Given the description of an element on the screen output the (x, y) to click on. 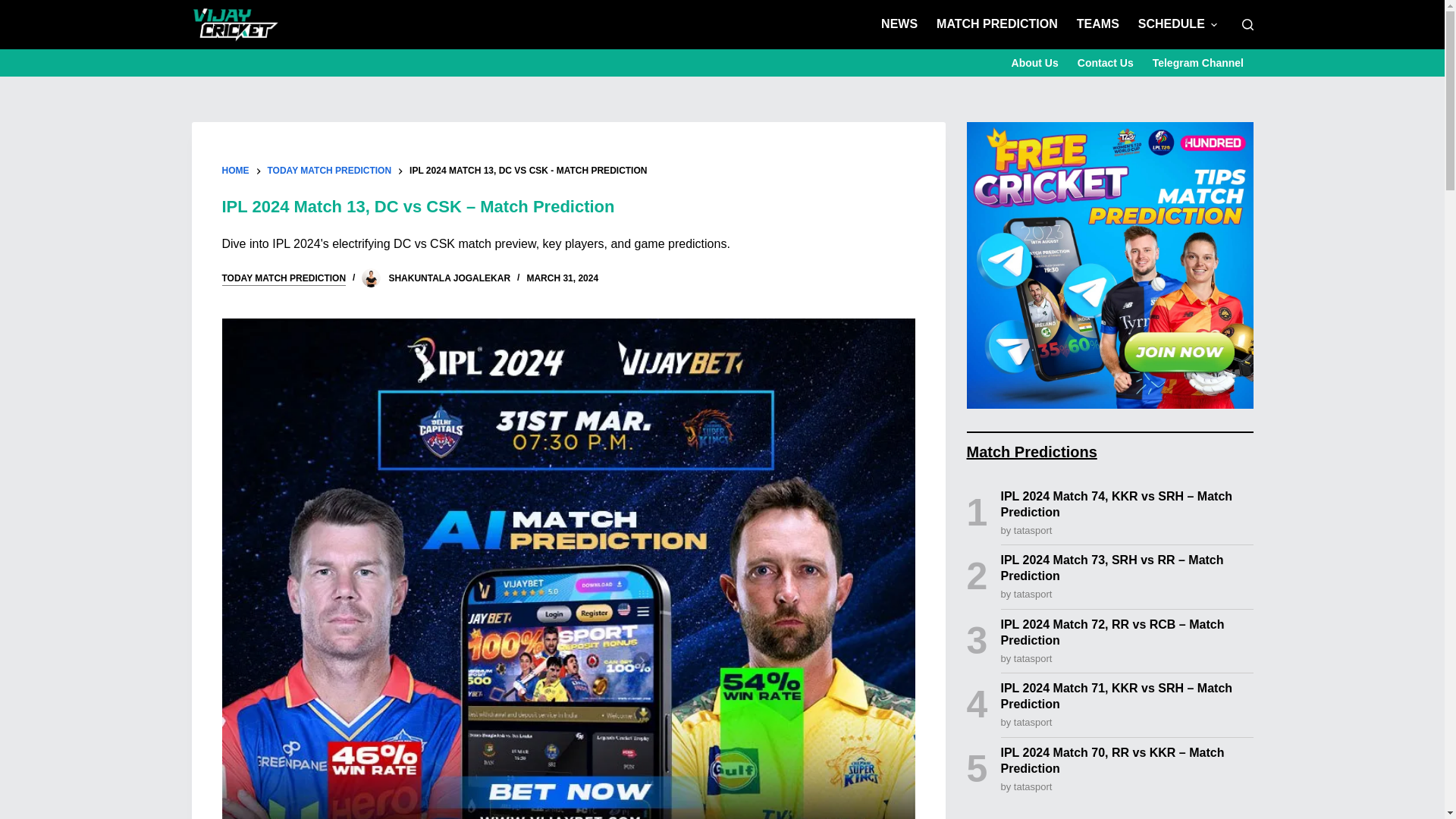
About Us (1034, 62)
NEWS (899, 24)
HOME (234, 171)
Posts by Shakuntala Jogalekar (449, 277)
MATCH PREDICTION (997, 24)
TODAY MATCH PREDICTION (283, 278)
Telegram Channel (1197, 62)
TODAY MATCH PREDICTION (328, 171)
TEAMS (1097, 24)
SHAKUNTALA JOGALEKAR (449, 277)
